Given the description of an element on the screen output the (x, y) to click on. 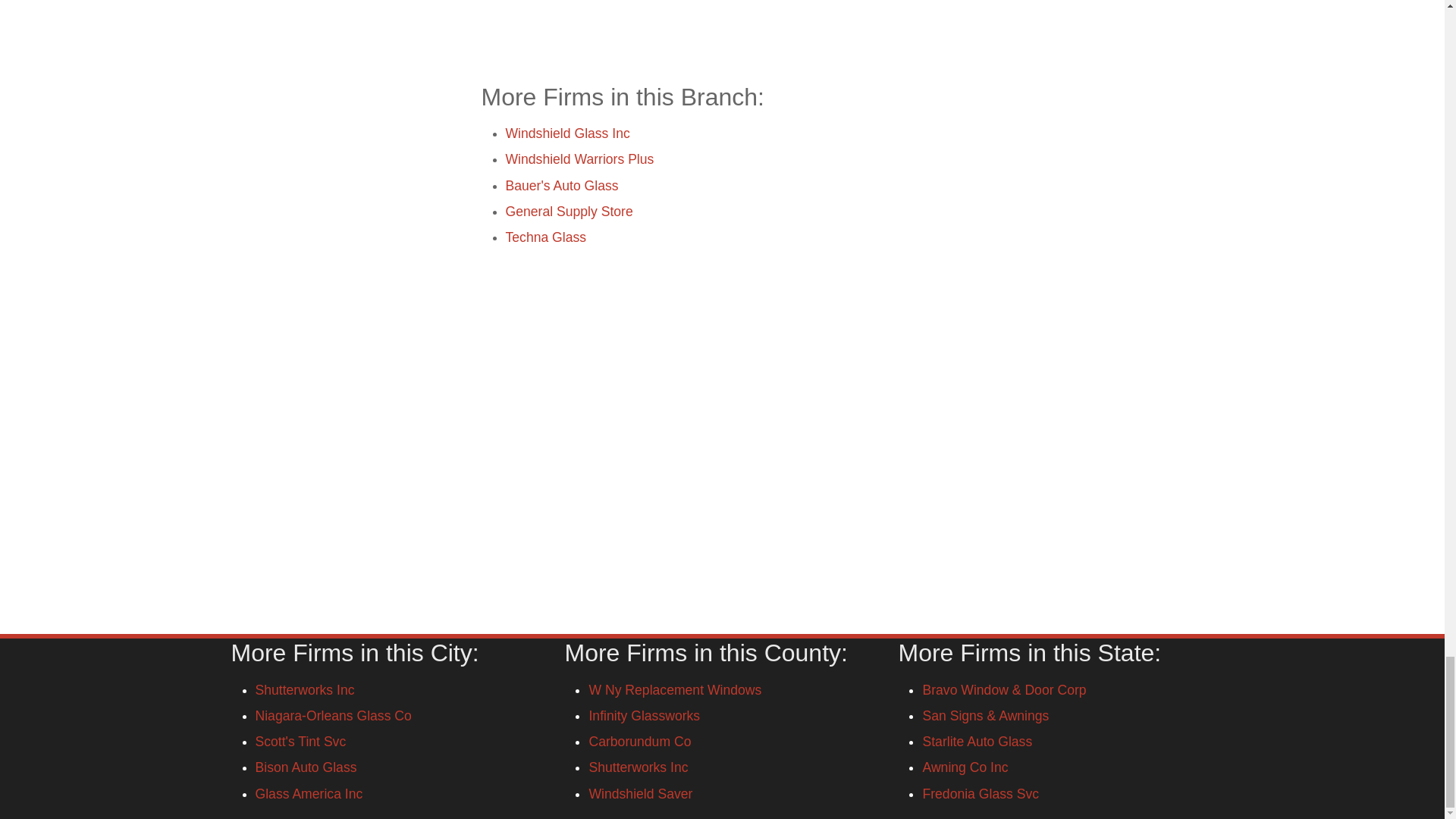
Techna Glass (545, 237)
Bauer's Auto Glass (561, 185)
General Supply Store (568, 211)
Windshield Glass Inc (566, 133)
Windshield Warriors Plus (579, 159)
